Given the description of an element on the screen output the (x, y) to click on. 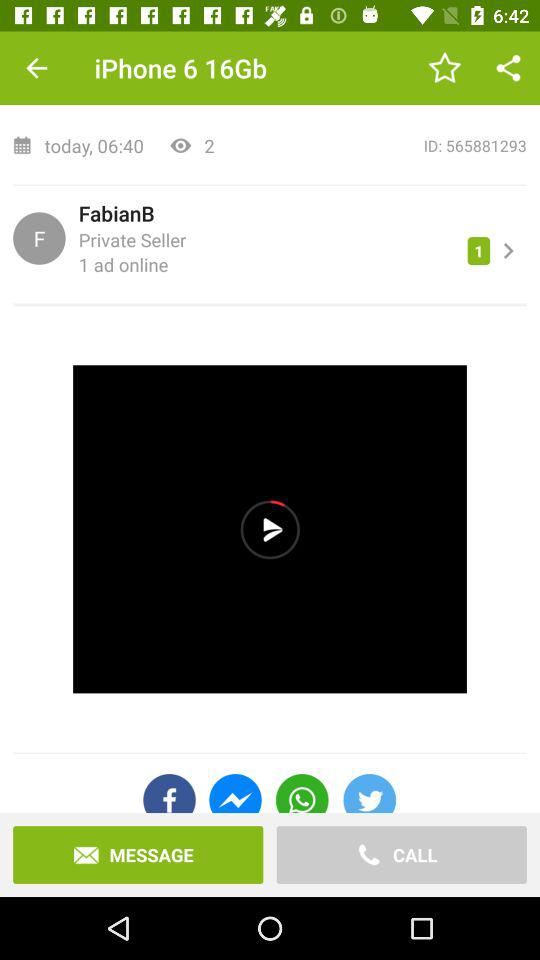
tap the icon above the id: 565881293 icon (508, 67)
